Given the description of an element on the screen output the (x, y) to click on. 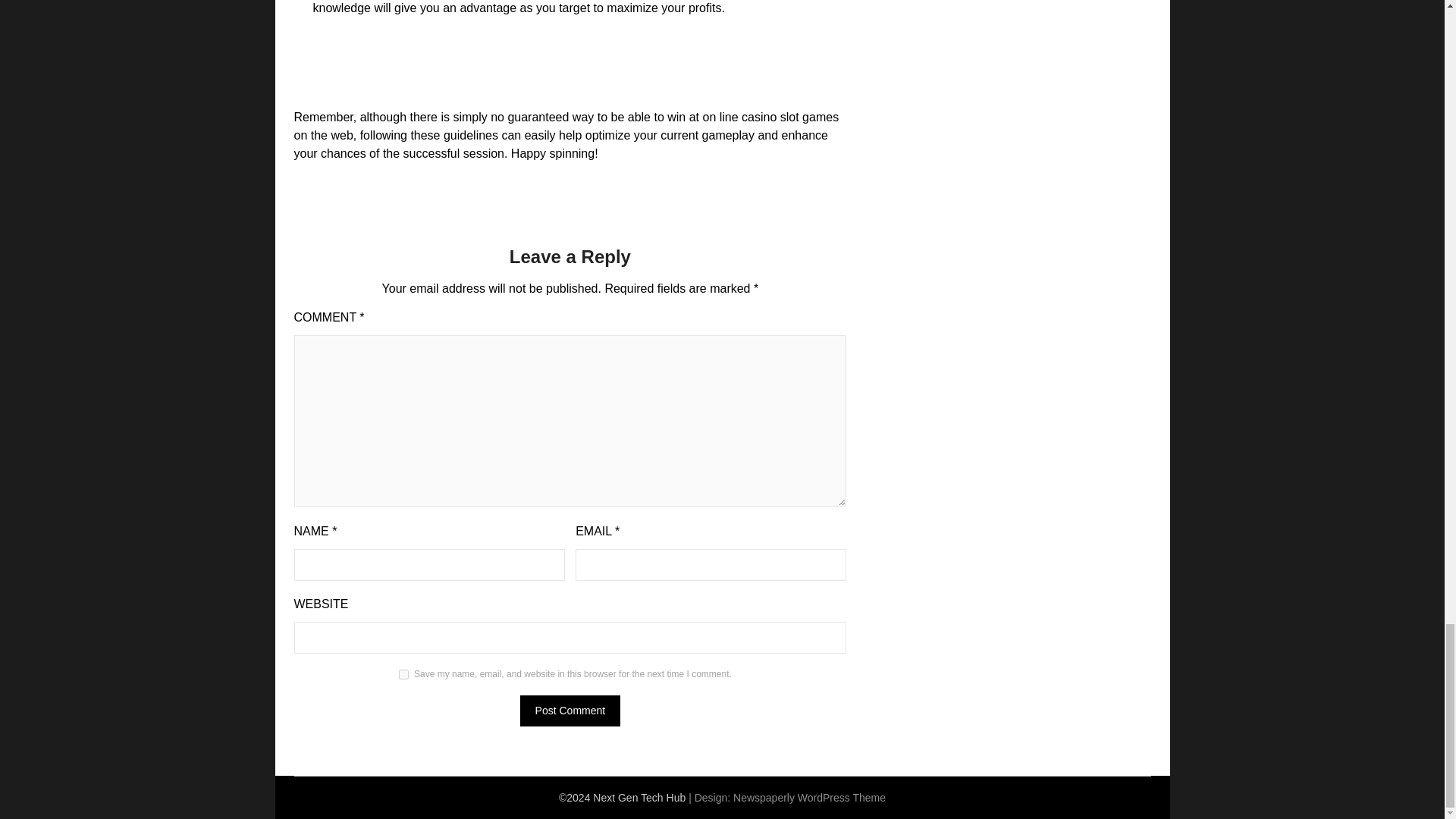
Post Comment (570, 710)
Post Comment (570, 710)
yes (403, 674)
